Given the description of an element on the screen output the (x, y) to click on. 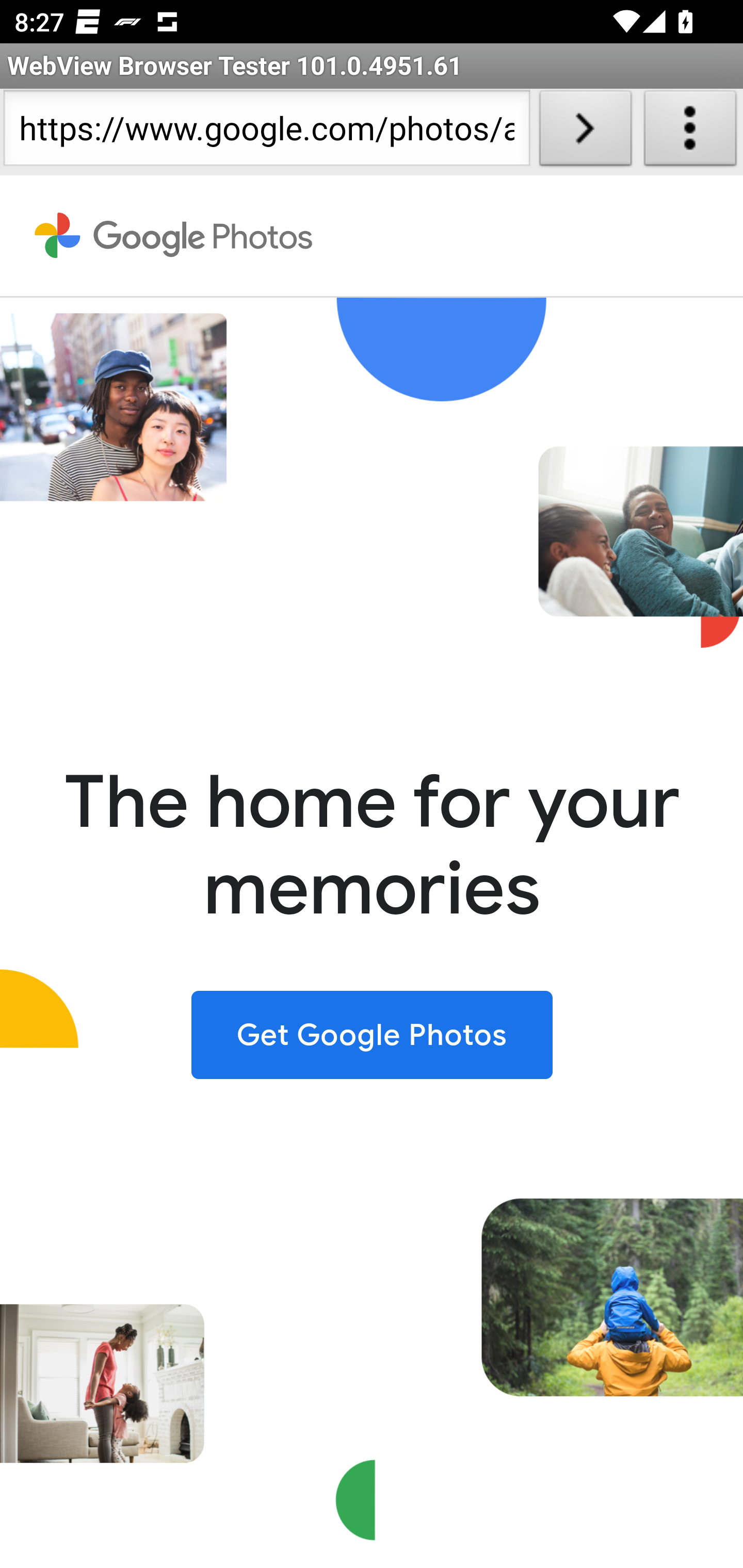
https://www.google.com/photos/about/ (266, 132)
Load URL (585, 132)
About WebView (690, 132)
Google Photos (174, 235)
Get Google Photos (371, 1033)
